Given the description of an element on the screen output the (x, y) to click on. 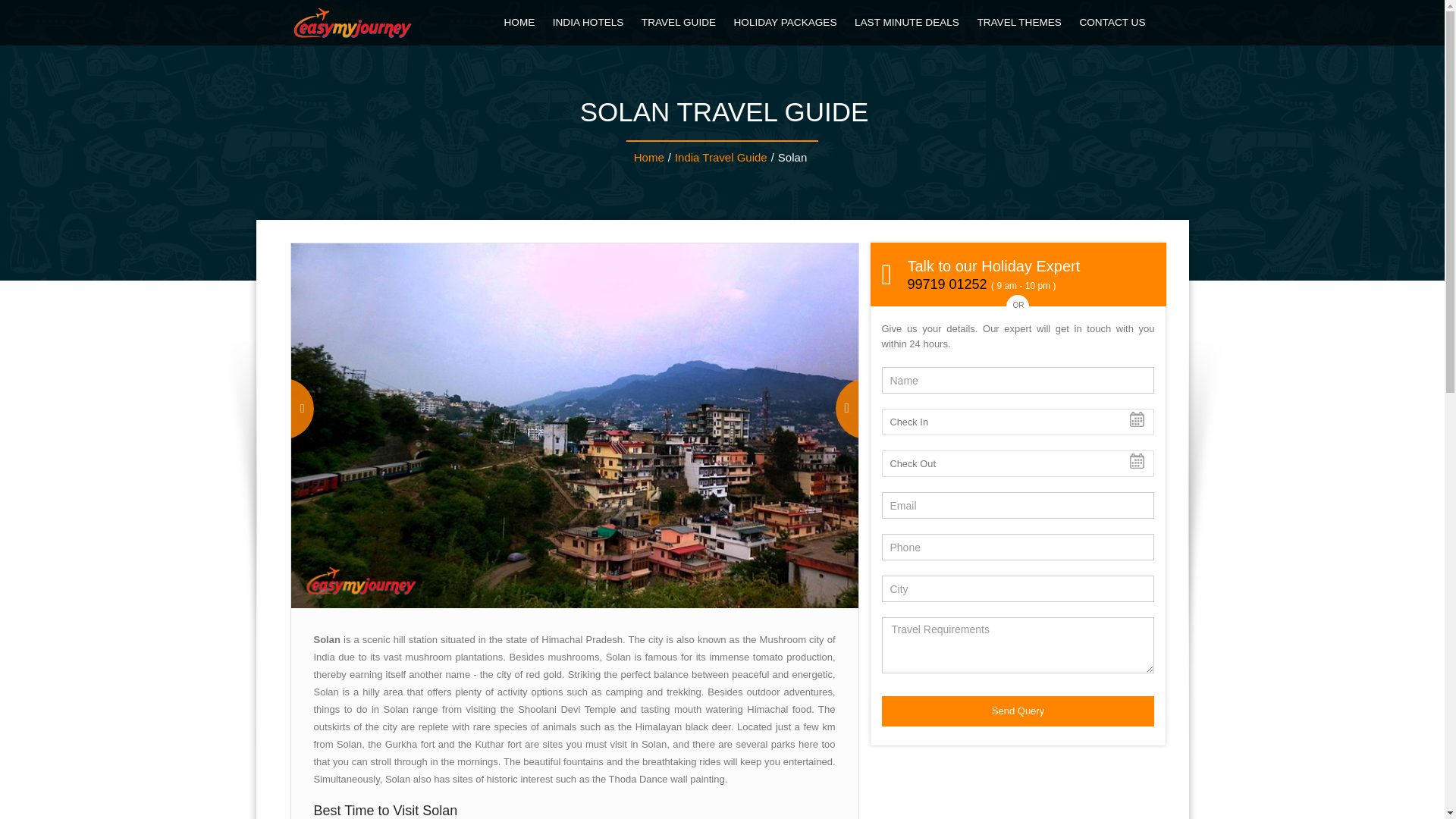
HOME (520, 22)
TRAVEL GUIDE (679, 22)
INDIA HOTELS (590, 22)
Send Query (1017, 711)
